Given the description of an element on the screen output the (x, y) to click on. 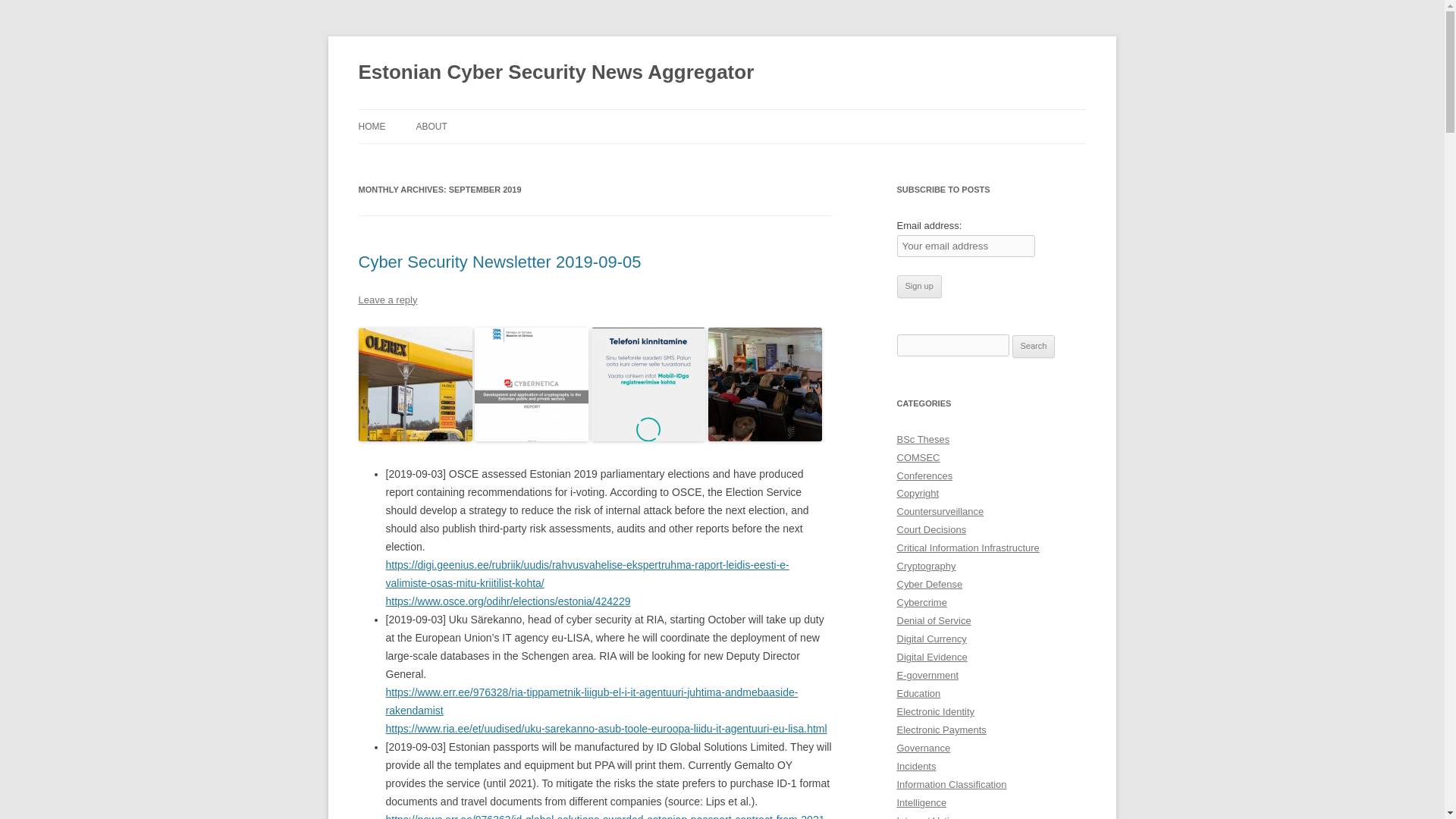
Estonian Cyber Security News Aggregator (556, 72)
Cyber Security Newsletter 2019-09-05 (499, 261)
ABOUT (430, 126)
Search (1033, 345)
Sign up (918, 286)
Estonian Cyber Security News Aggregator (556, 72)
Leave a reply (387, 299)
